Given the description of an element on the screen output the (x, y) to click on. 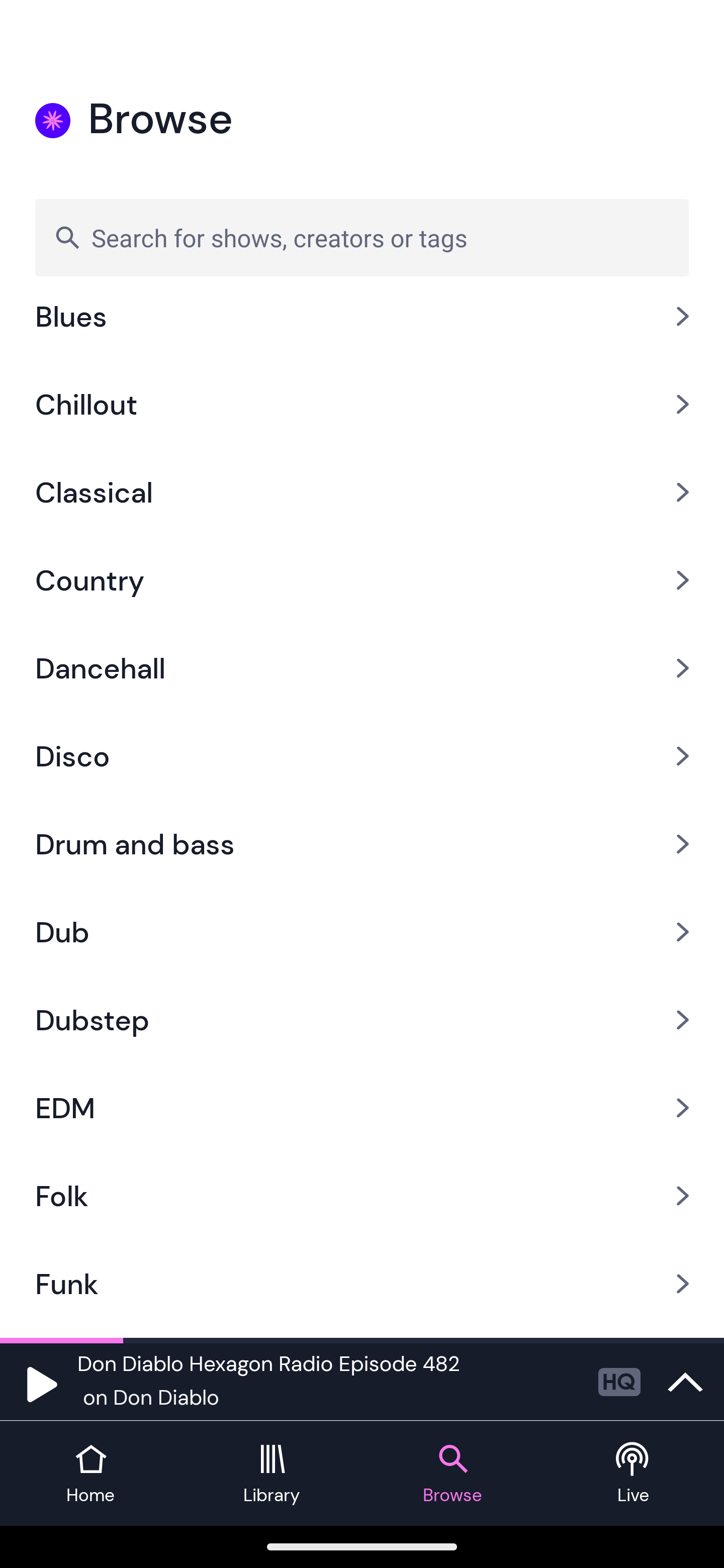
Search for shows, creators or tags (361, 237)
Blues (361, 331)
Chillout (361, 404)
Classical (361, 492)
Country (361, 580)
Dancehall (361, 667)
Disco (361, 755)
Drum and bass (361, 843)
Dub (361, 931)
Dubstep (361, 1019)
EDM (361, 1108)
Folk (361, 1196)
Funk (361, 1284)
Home tab Home (90, 1473)
Library tab Library (271, 1473)
Browse tab Browse (452, 1473)
Live tab Live (633, 1473)
